Given the description of an element on the screen output the (x, y) to click on. 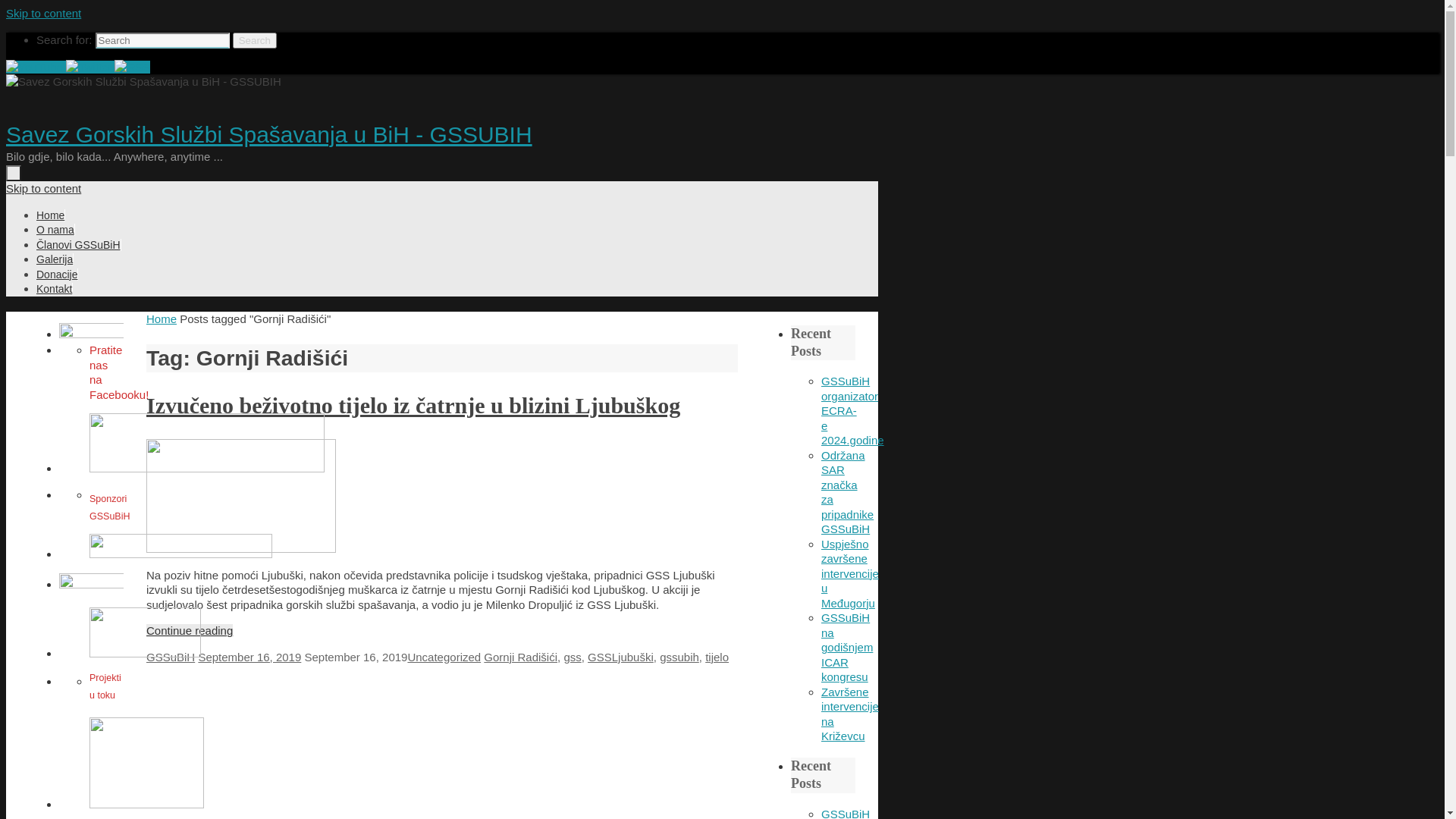
Uncategorized Element type: text (443, 656)
Home Element type: text (161, 318)
GSSuBiH organizator ECRA-e 2024.godine Element type: text (852, 410)
gssubih Element type: text (679, 656)
tijelo Element type: text (716, 656)
Skip to content Element type: text (43, 188)
Twitter Element type: hover (89, 66)
O nama Element type: text (55, 229)
September 16, 2019 Element type: text (249, 656)
YouTube Element type: hover (35, 66)
Home Element type: text (50, 215)
Search Element type: text (254, 39)
gss Element type: text (571, 656)
GSSuBiH Element type: text (170, 656)
RSS Element type: hover (132, 66)
Continue reading Element type: text (189, 630)
Kontakt Element type: text (54, 288)
Donacije Element type: text (56, 274)
Skip to content Element type: text (43, 12)
  Element type: text (13, 173)
Galerija Element type: text (54, 259)
